Given the description of an element on the screen output the (x, y) to click on. 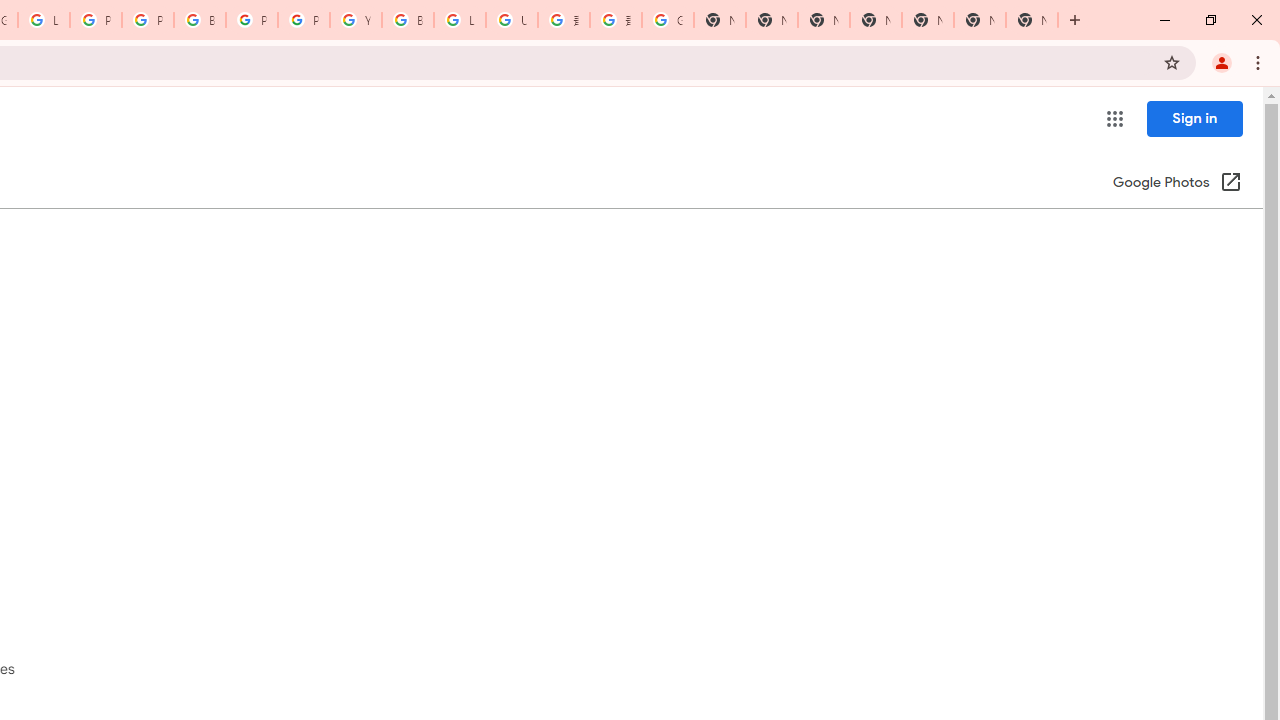
Google Photos (Open in a new window) (1177, 183)
Privacy Help Center - Policies Help (95, 20)
